Given the description of an element on the screen output the (x, y) to click on. 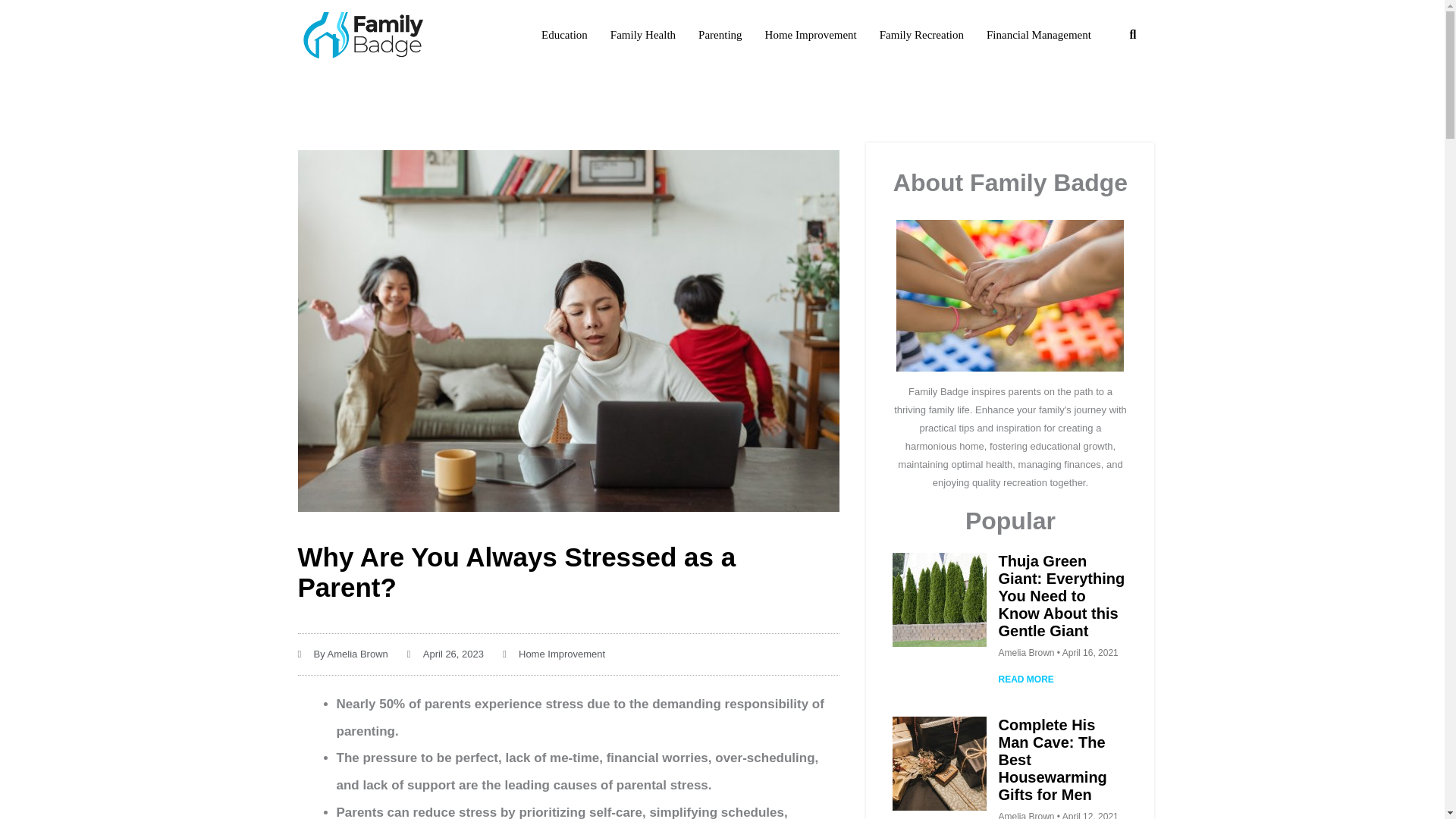
Home Improvement (561, 654)
Family Health (642, 34)
Search (1132, 34)
Family Recreation (921, 34)
Financial Management (1038, 34)
Complete His Man Cave: The Best Housewarming Gifts for Men (1051, 759)
Parenting (720, 34)
Home Improvement (811, 34)
By Amelia Brown (342, 654)
Education (564, 34)
April 26, 2023 (445, 654)
READ MORE (1024, 679)
